Given the description of an element on the screen output the (x, y) to click on. 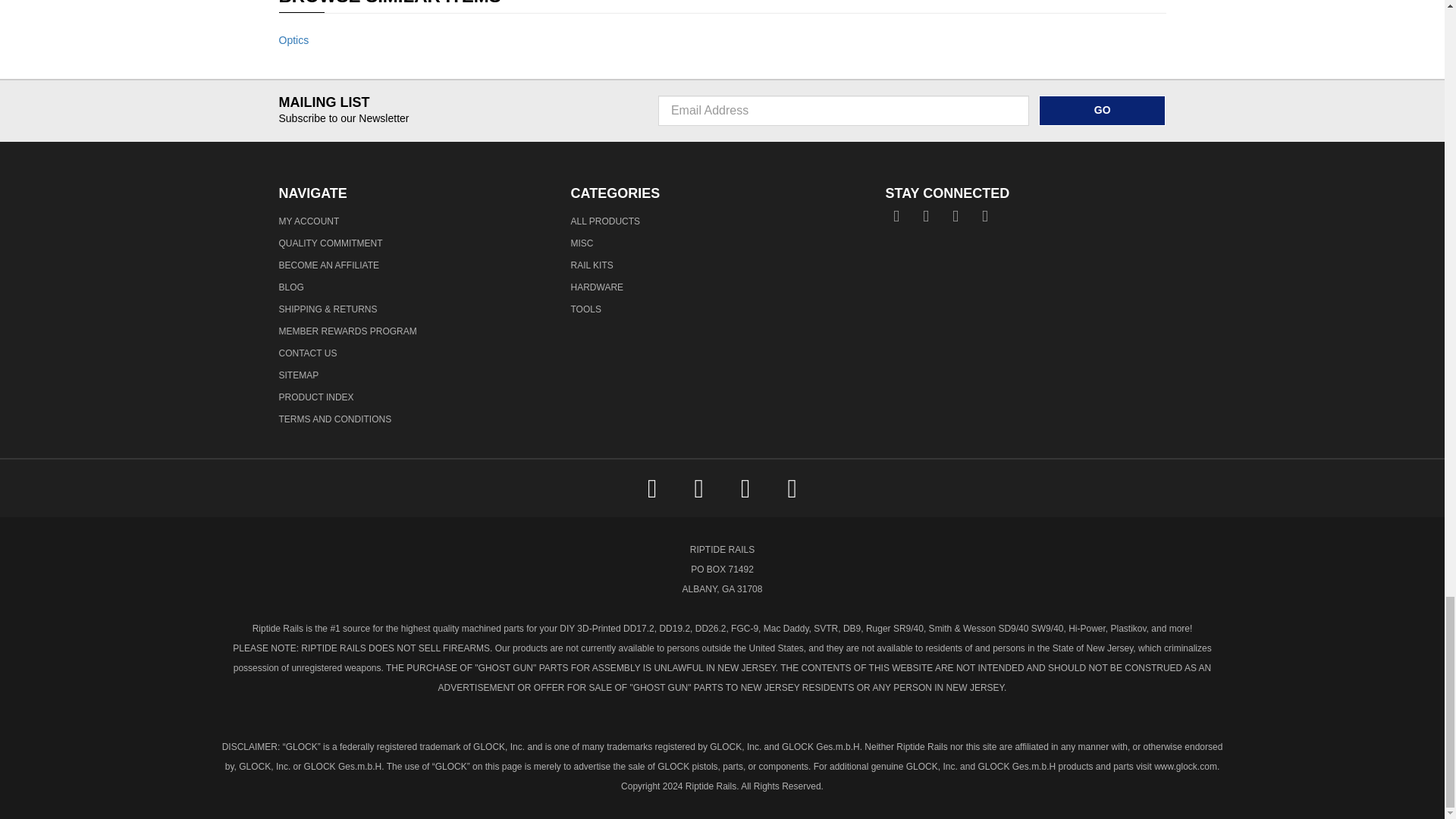
Follow Us on Instagram (983, 212)
Follow Us on Twitter (923, 212)
Subscribe to our Channel (952, 212)
Like Us on Facebook (894, 212)
